Given the description of an element on the screen output the (x, y) to click on. 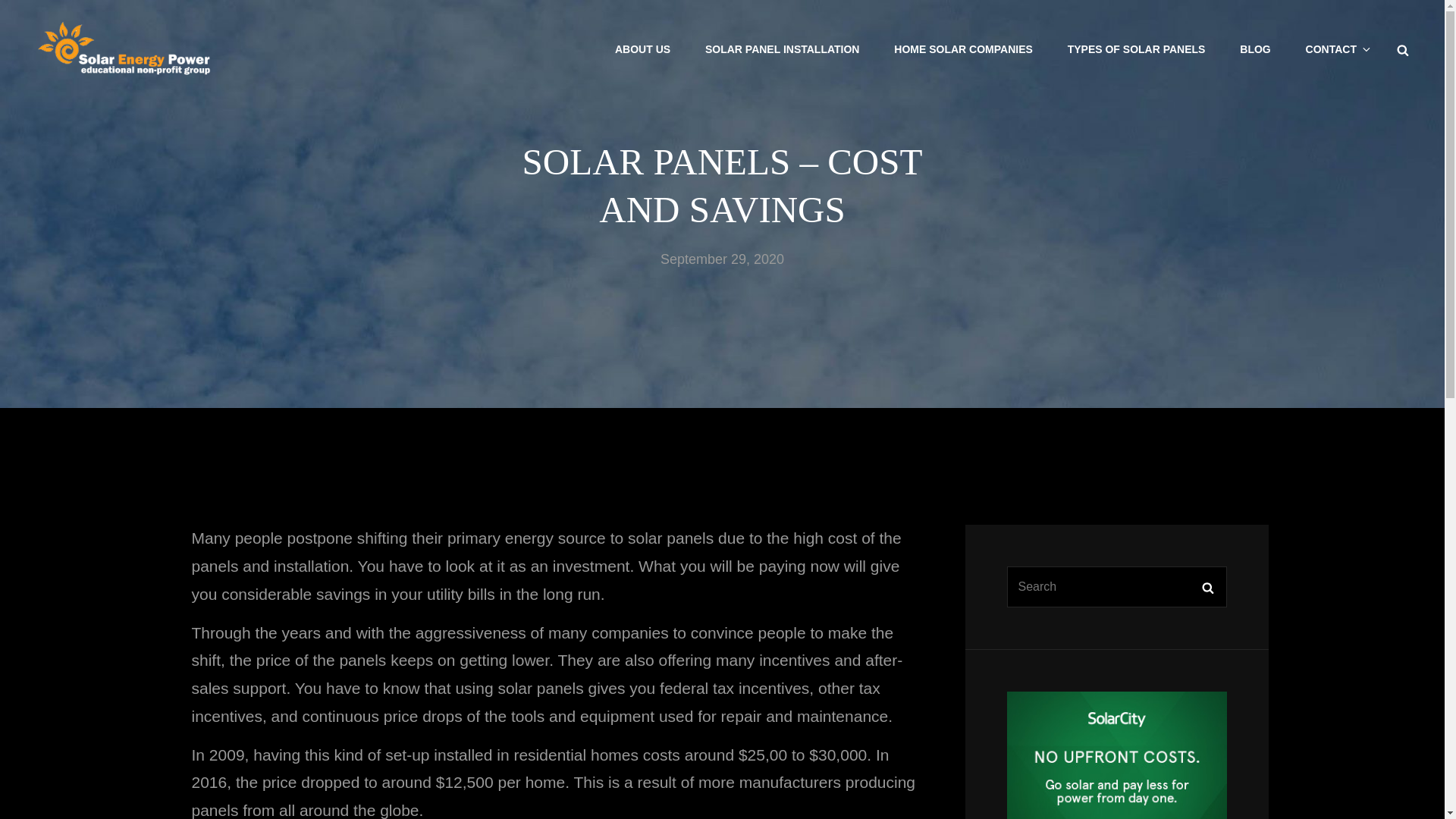
BLOG (1254, 49)
TYPES OF SOLAR PANELS (1136, 49)
September 29, 2020 (722, 258)
CONTACT (1337, 49)
ABOUT US (642, 49)
SOLAR ENERGY POWER (389, 60)
Search (1207, 586)
SOLAR PANEL INSTALLATION (782, 49)
Search (1402, 49)
HOME SOLAR COMPANIES (963, 49)
